Given the description of an element on the screen output the (x, y) to click on. 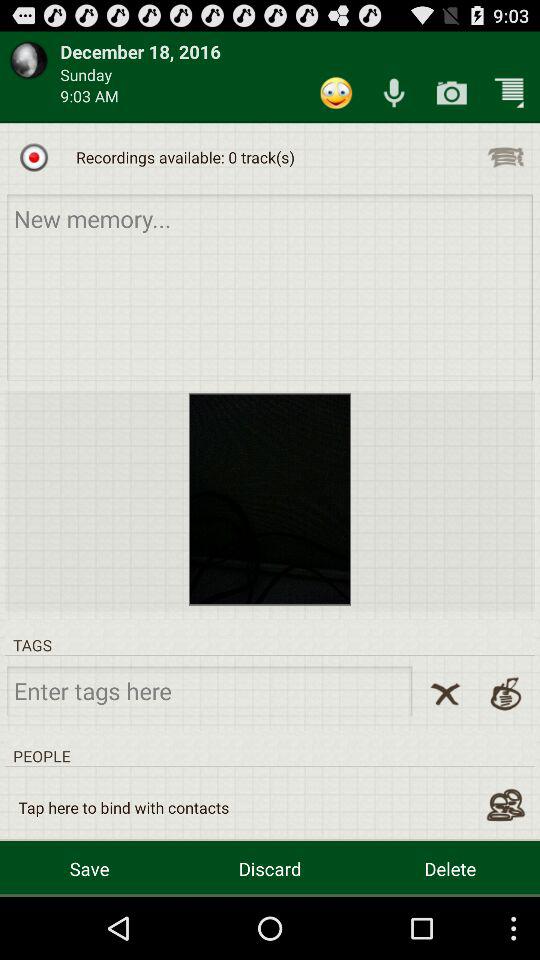
take a photo (451, 92)
